Given the description of an element on the screen output the (x, y) to click on. 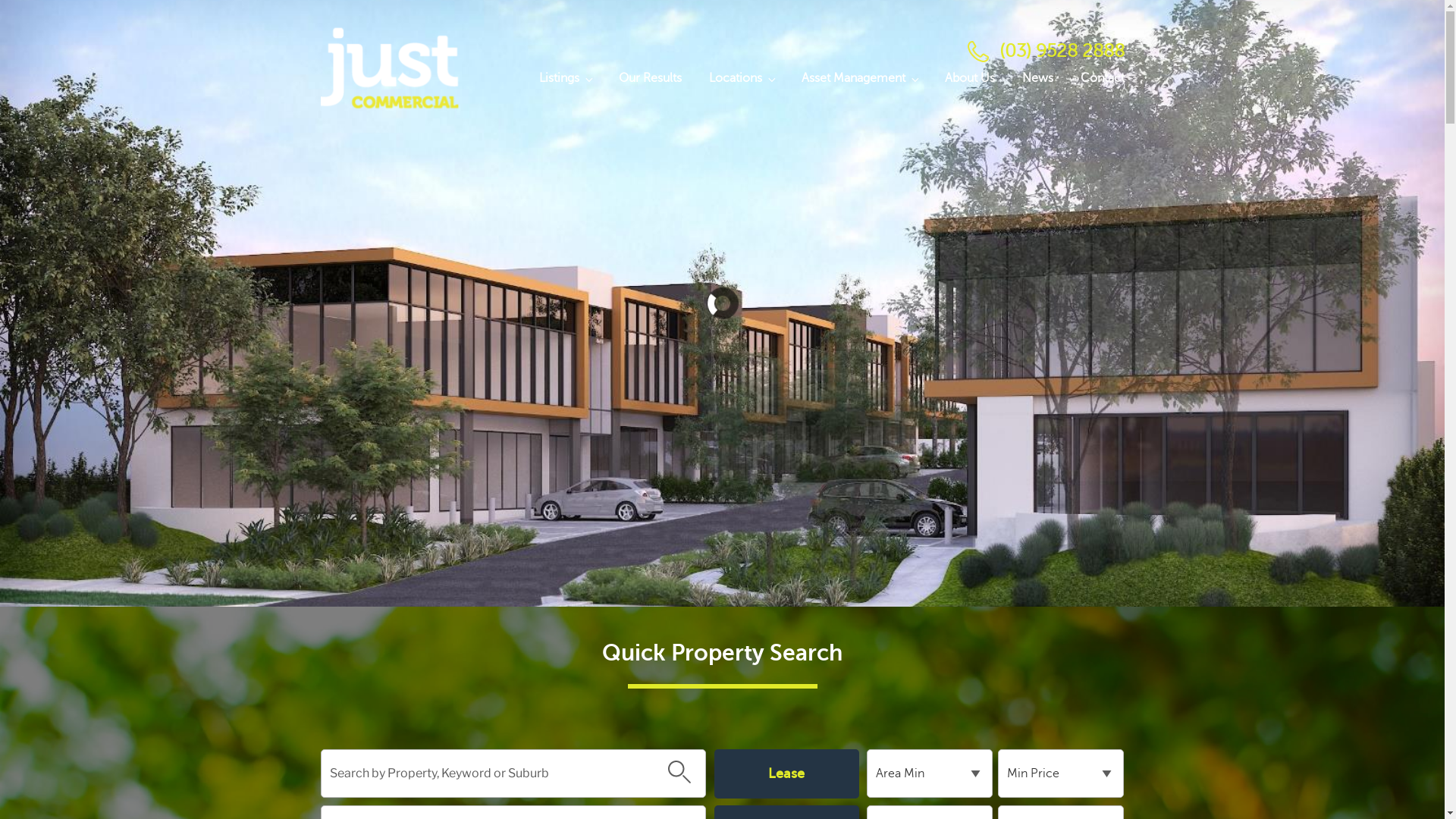
Our Results Element type: text (649, 77)
Asset Management Element type: text (858, 77)
Contact Element type: text (1095, 77)
(03) 9528 2888 Element type: text (1061, 50)
News Element type: text (1037, 77)
Listings Element type: text (564, 77)
About Us Element type: text (969, 77)
JUST COMMERCIAL Element type: text (423, 159)
Locations Element type: text (740, 77)
